Given the description of an element on the screen output the (x, y) to click on. 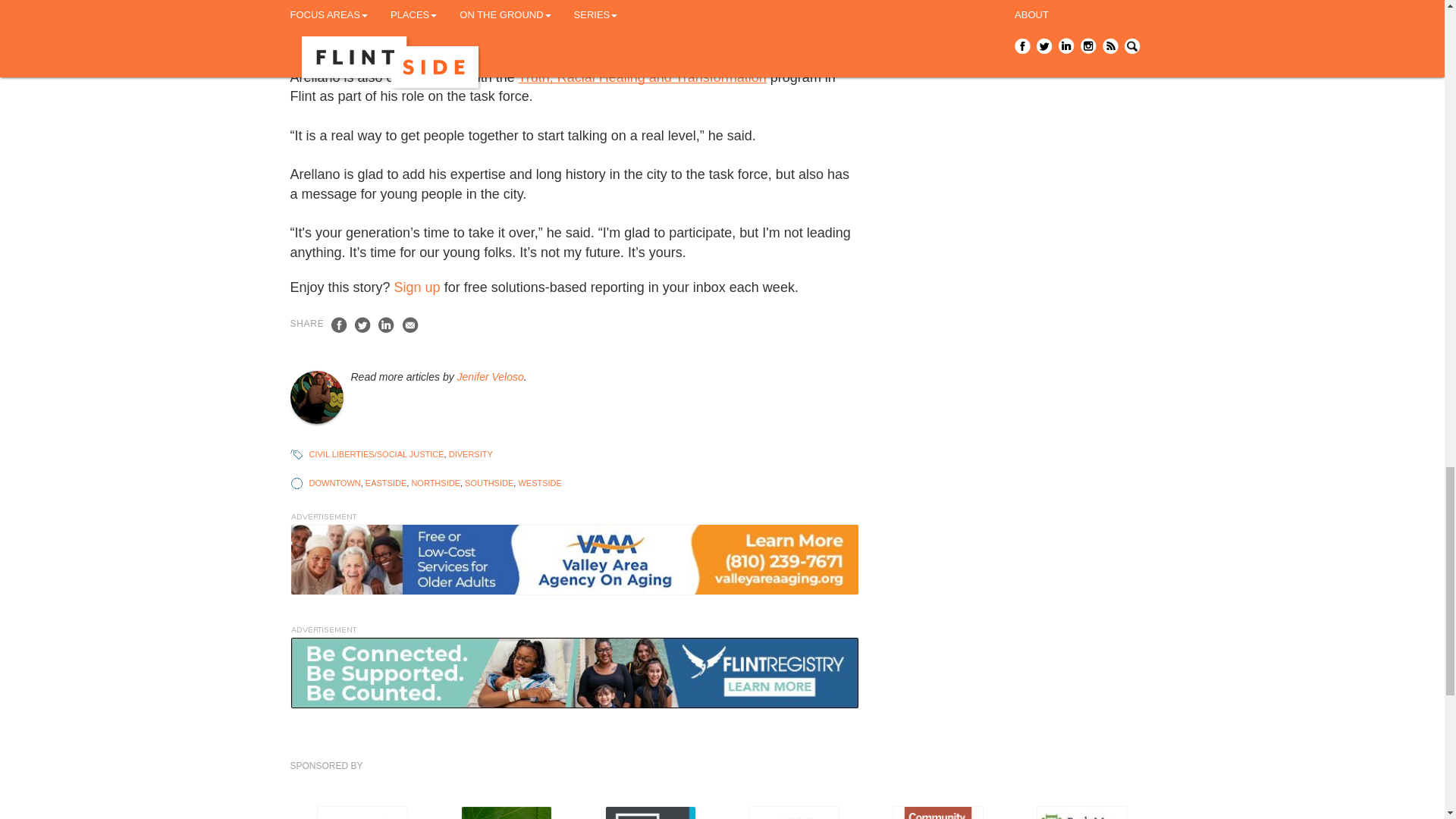
Flint Registry (574, 672)
View more stories related to Downtown (334, 482)
View more stories related to Westside (539, 482)
Hamilton Community Health Network  (362, 812)
View more stories related to Eastside (385, 482)
View more stories related to Northside (435, 482)
View more stories related to Southside (488, 482)
View more stories related to Diversity (470, 453)
